Given the description of an element on the screen output the (x, y) to click on. 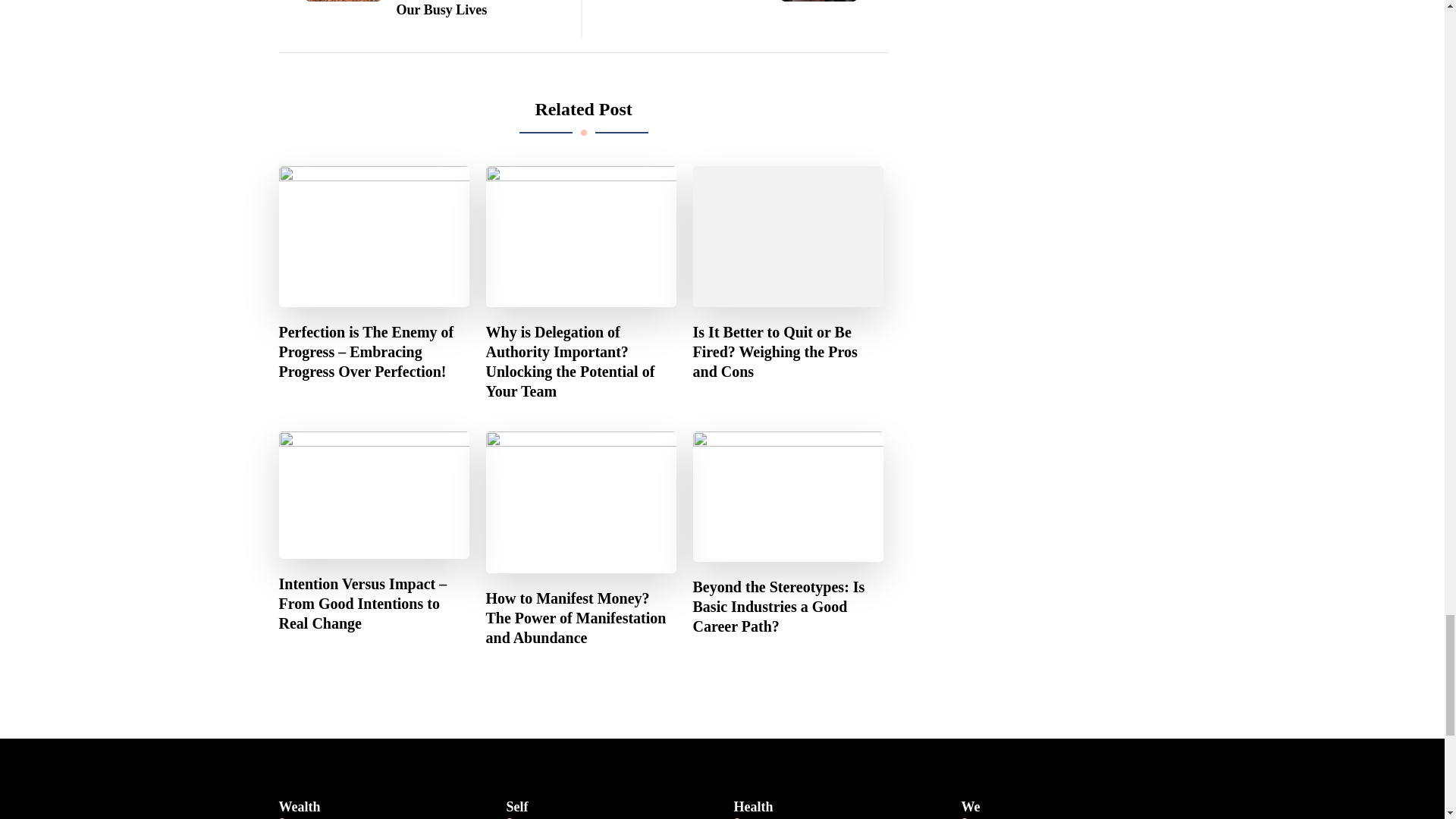
Is It Better to Quit or Be Fired? Weighing the Pros and Cons (788, 351)
